Given the description of an element on the screen output the (x, y) to click on. 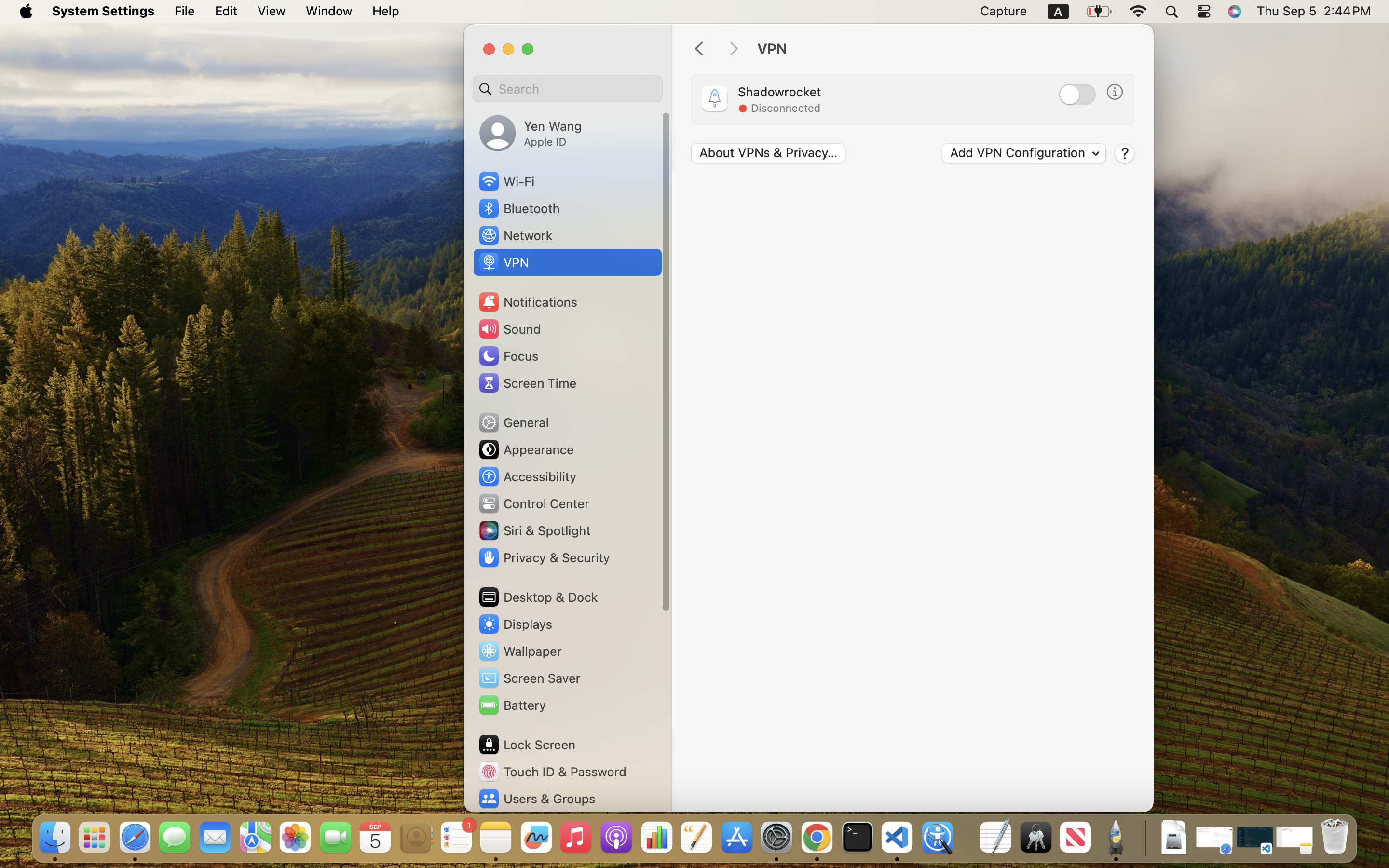
Users & Groups Element type: AXStaticText (536, 798)
Desktop & Dock Element type: AXStaticText (537, 596)
Yen Wang, Apple ID Element type: AXStaticText (530, 132)
Touch ID & Password Element type: AXStaticText (551, 771)
Wi‑Fi Element type: AXStaticText (505, 180)
